Given the description of an element on the screen output the (x, y) to click on. 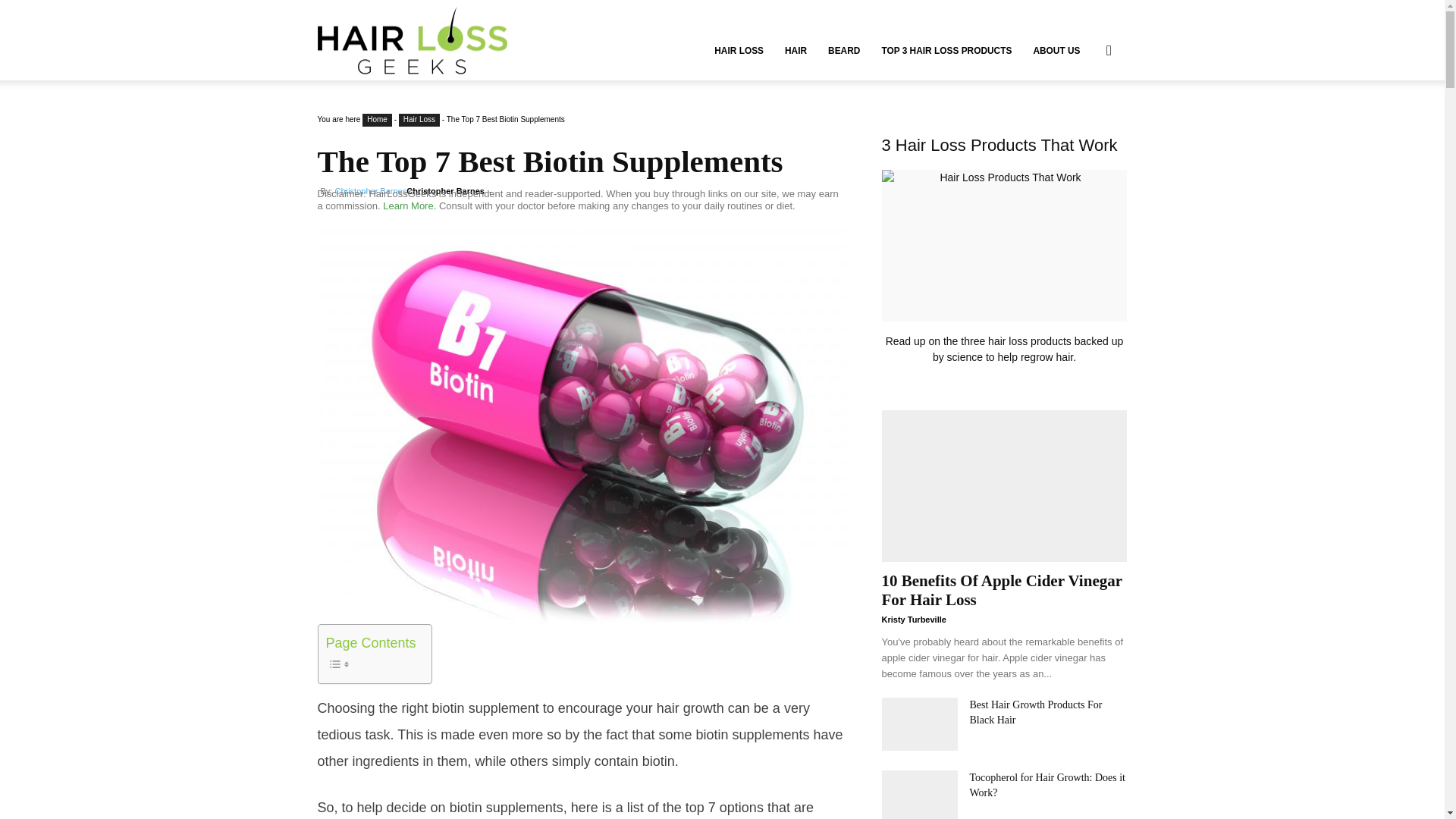
Hair Loss Products That Work (1003, 245)
The Top 7 Best Biotin Supplements (550, 161)
Hair Loss Products That Work (1003, 267)
TOP 3 HAIR LOSS PRODUCTS (946, 50)
Home (376, 119)
Hair Loss Geeks (411, 40)
The Top 7 Best Biotin Supplements (550, 161)
Search (1085, 122)
BEARD (843, 50)
ABOUT US (1056, 50)
Hair Loss (418, 119)
Christopher Barnes (370, 190)
HAIR LOSS (738, 50)
Hair Loss Geeks (411, 39)
